Given the description of an element on the screen output the (x, y) to click on. 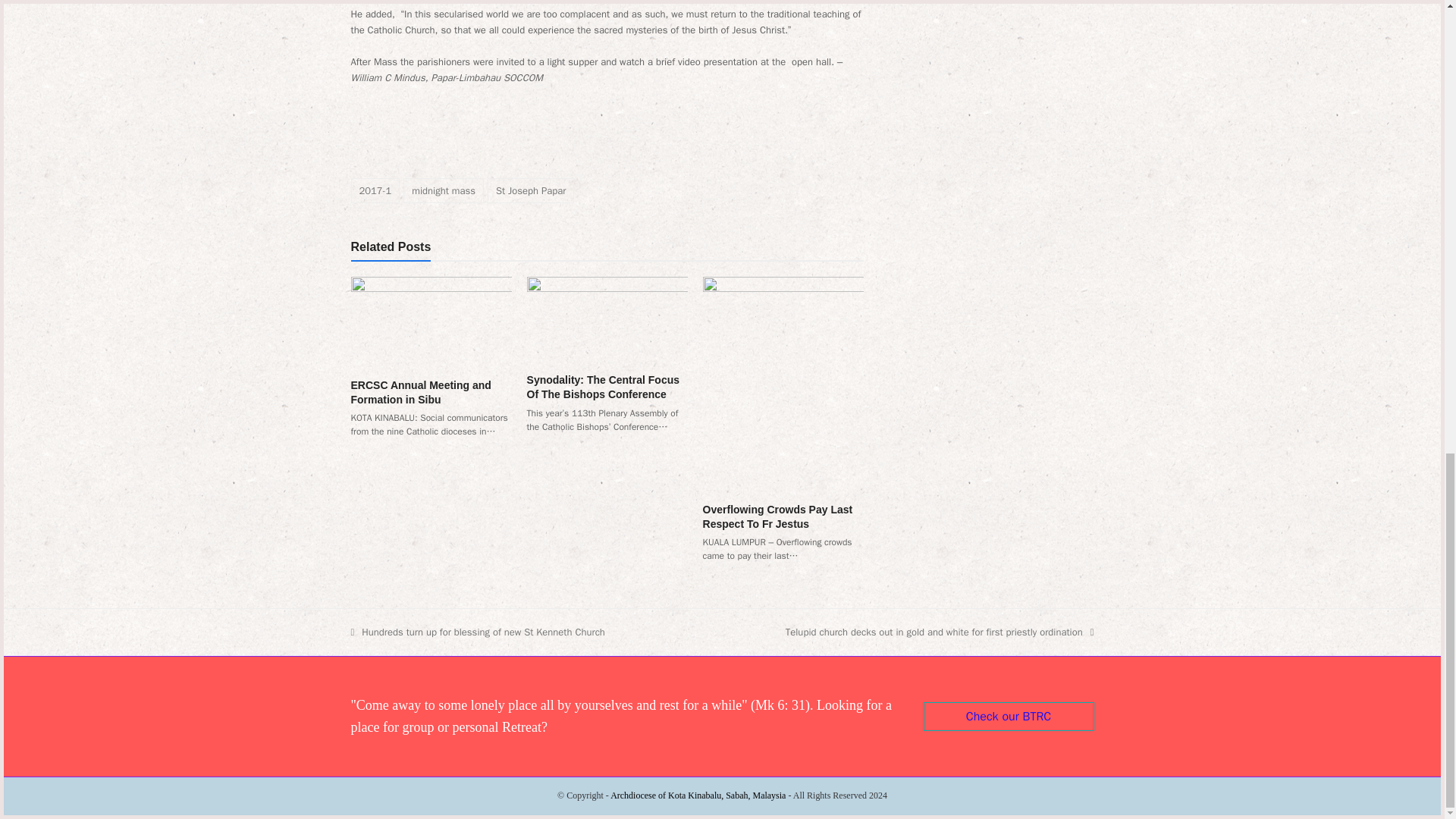
Overflowing Crowds Pay Last Respect To Fr Jestus (783, 382)
Synodality: The Central Focus Of The Bishops Conference (607, 318)
ERCSC Annual Meeting and Formation in Sibu (430, 320)
